Given the description of an element on the screen output the (x, y) to click on. 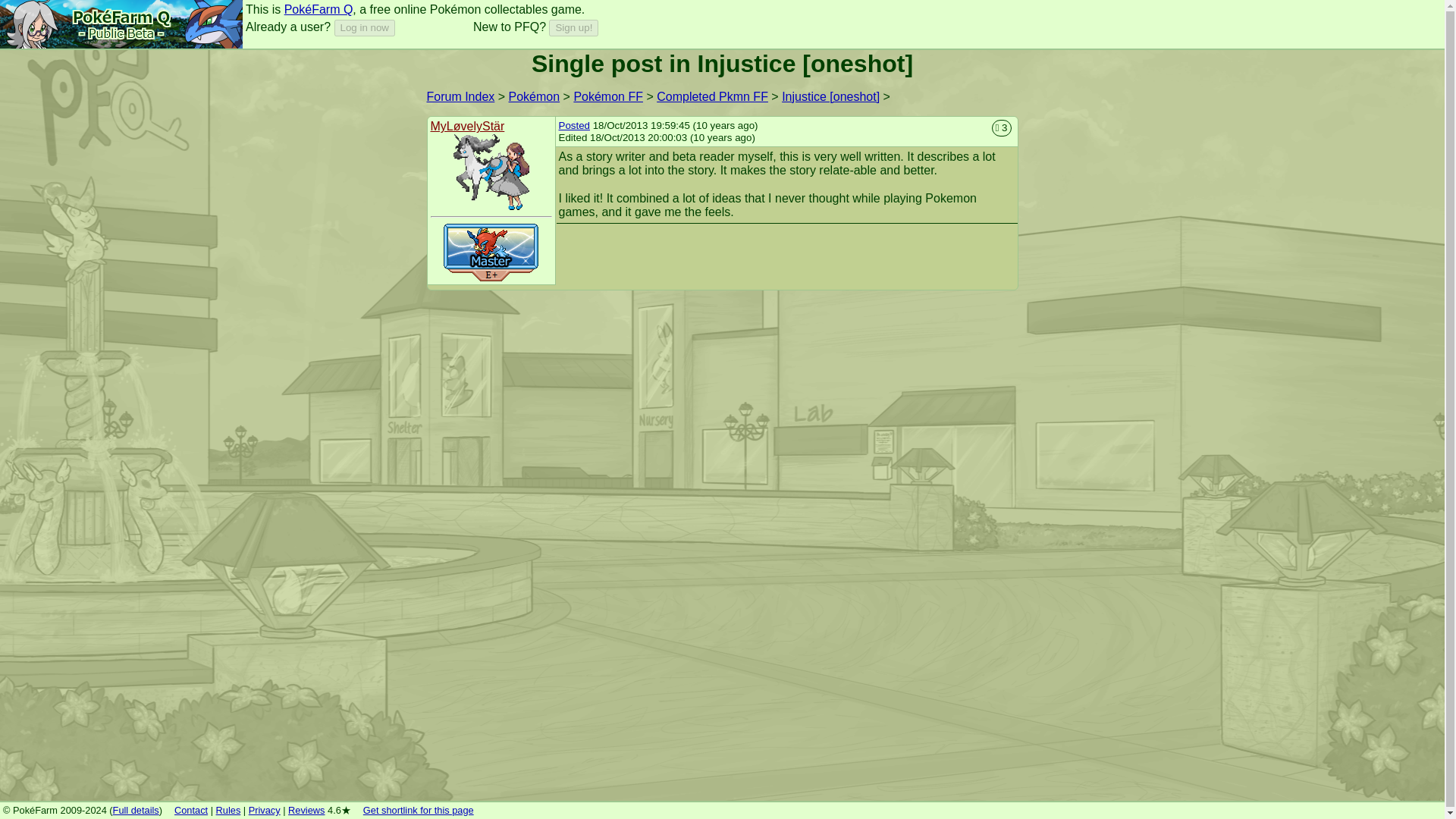
Posted (573, 125)
Completed Pkmn FF (712, 96)
Reviews (306, 809)
Sign up! (573, 27)
Full details (135, 809)
Contact (191, 809)
Forum Index (460, 96)
Rules (228, 809)
Privacy (264, 809)
Log in now (364, 27)
